Given the description of an element on the screen output the (x, y) to click on. 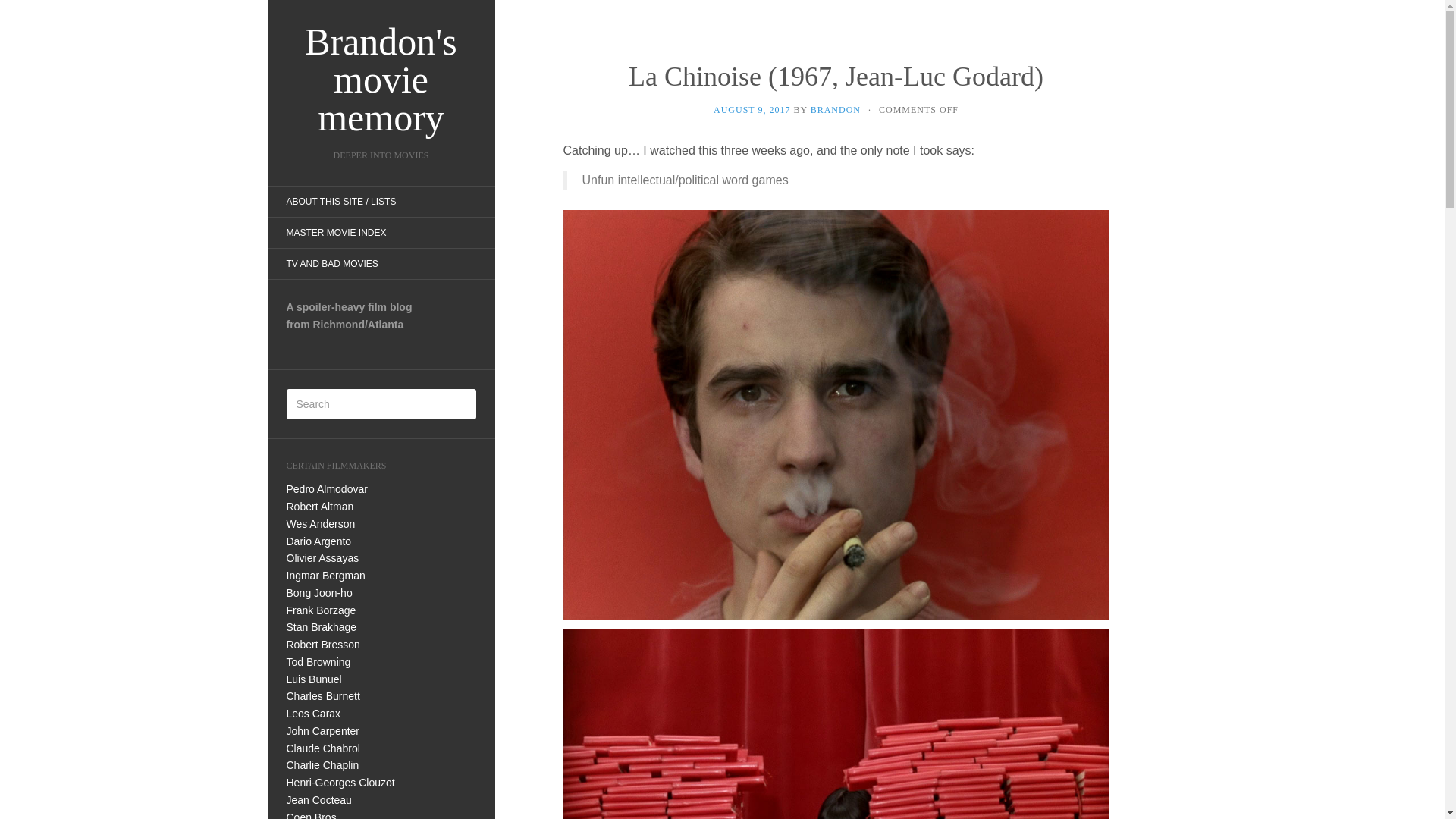
Leos Carax (313, 713)
Pedro Almodovar (327, 489)
Robert Altman (319, 506)
Claude Chabrol (322, 747)
Jean Cocteau (319, 799)
Search (22, 11)
Tod Browning (318, 662)
Charles Burnett (322, 695)
Brandon's movie memory (380, 79)
Ingmar Bergman (325, 575)
TV AND BAD MOVIES (331, 263)
Stan Brakhage (321, 626)
Olivier Assayas (322, 558)
Bong Joon-ho (319, 592)
Henri-Georges Clouzot (340, 782)
